Given the description of an element on the screen output the (x, y) to click on. 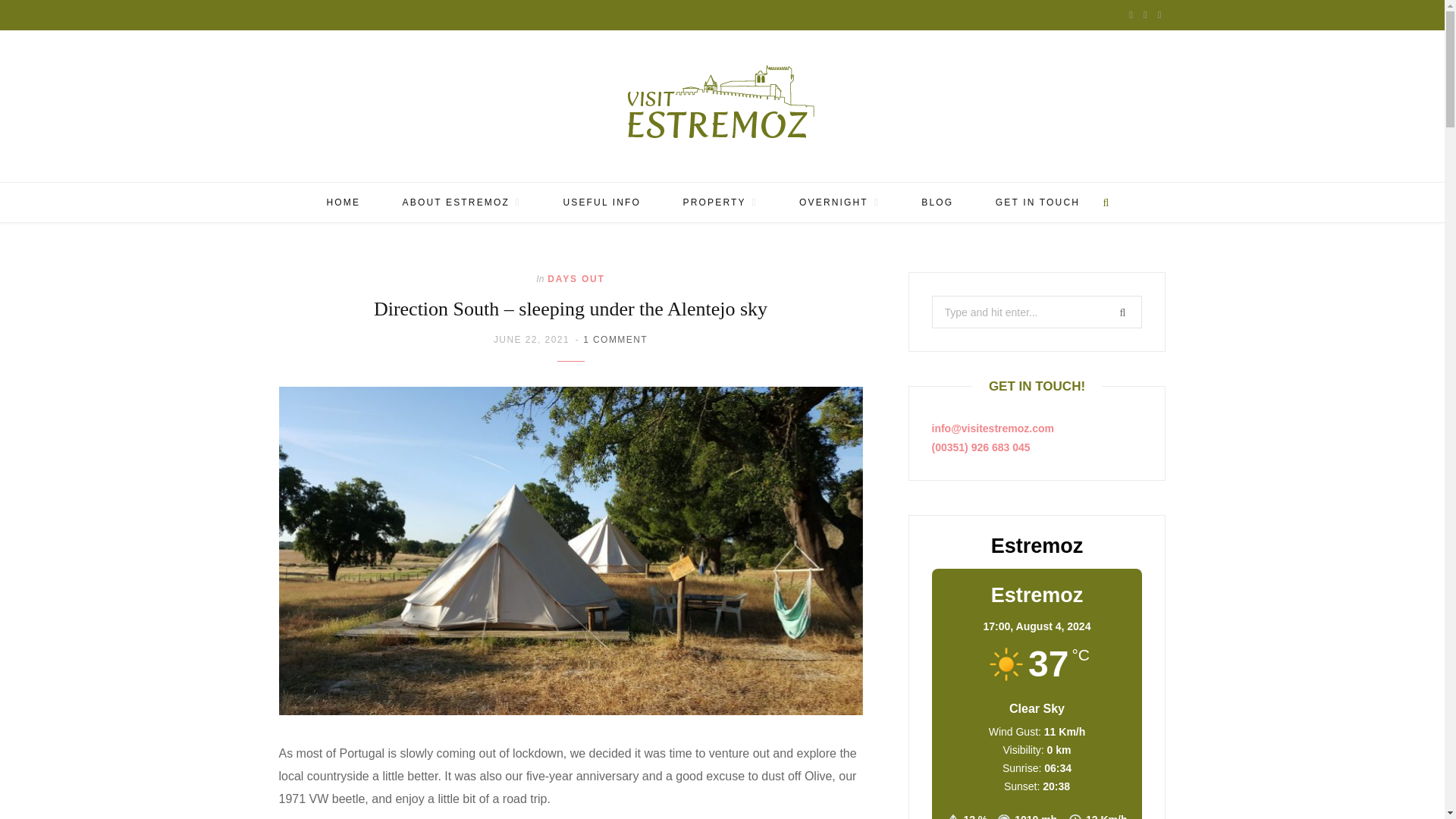
DAYS OUT (575, 278)
BLOG (937, 201)
1 COMMENT (615, 339)
ABOUT ESTREMOZ (462, 201)
JUNE 22, 2021 (533, 339)
OVERNIGHT (839, 201)
USEFUL INFO (601, 201)
Search for: (1036, 311)
GET IN TOUCH (1037, 201)
PROPERTY (719, 201)
Estremoz Guide (721, 105)
HOME (342, 201)
